Given the description of an element on the screen output the (x, y) to click on. 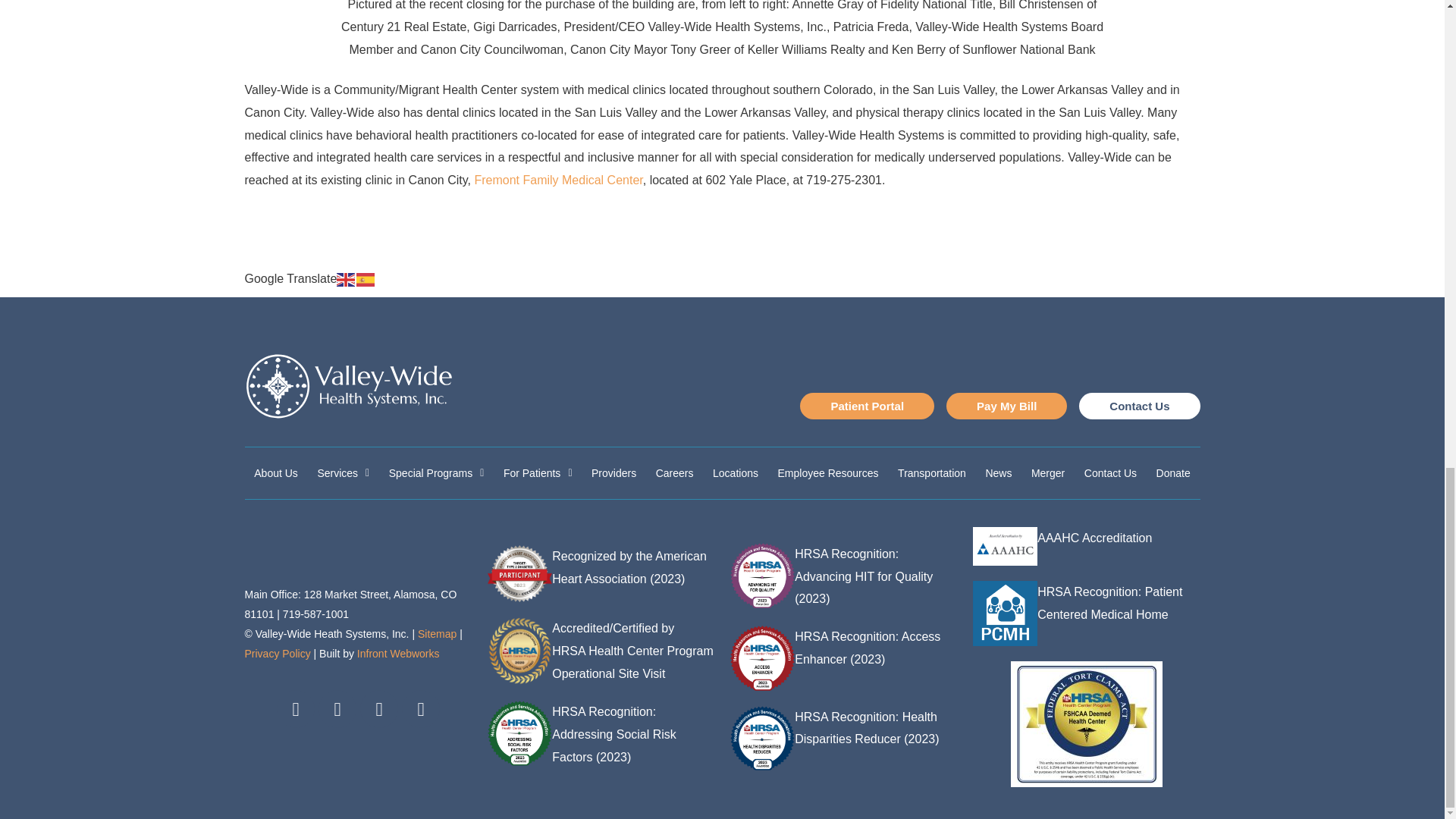
FTCA Seal 5.3.22 (1085, 723)
Spanish (365, 278)
English (346, 278)
